Given the description of an element on the screen output the (x, y) to click on. 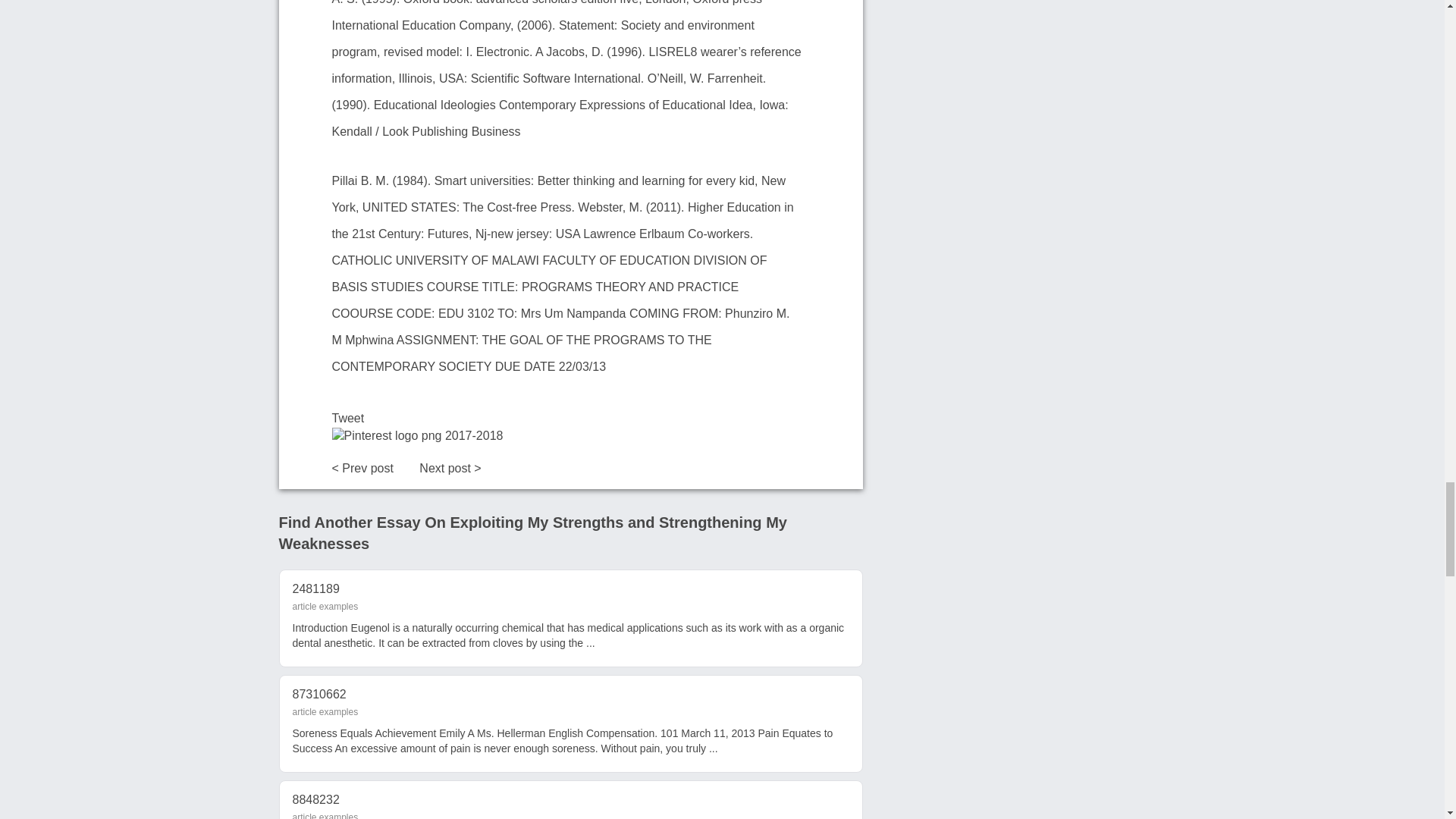
8848232 (315, 799)
87310662 (319, 694)
article examples (325, 711)
article examples (325, 815)
2481189 (315, 588)
Tweet (348, 418)
article examples (325, 606)
